Given the description of an element on the screen output the (x, y) to click on. 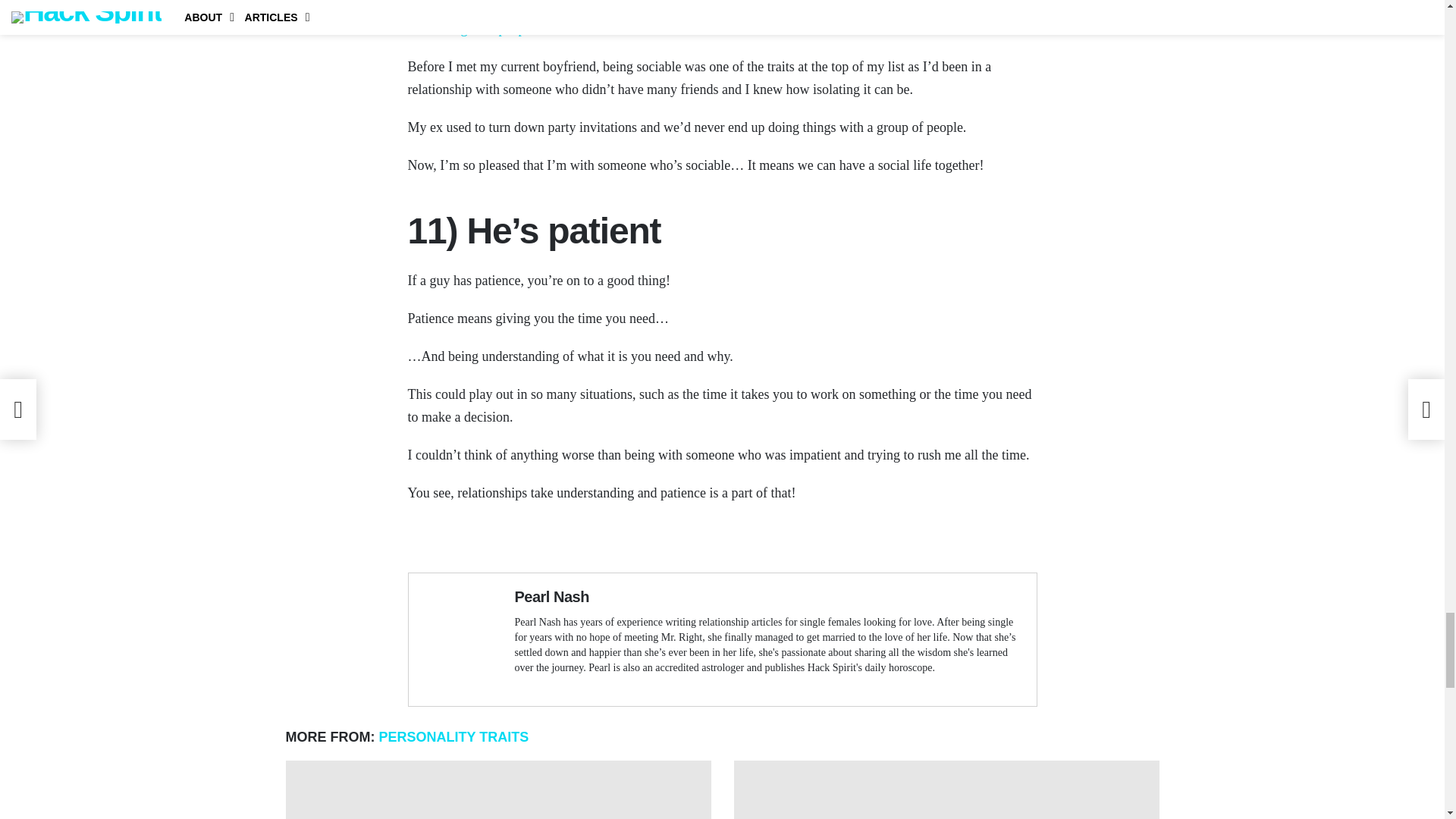
7 clear-cut signs other people find you intimidating (497, 789)
